Given the description of an element on the screen output the (x, y) to click on. 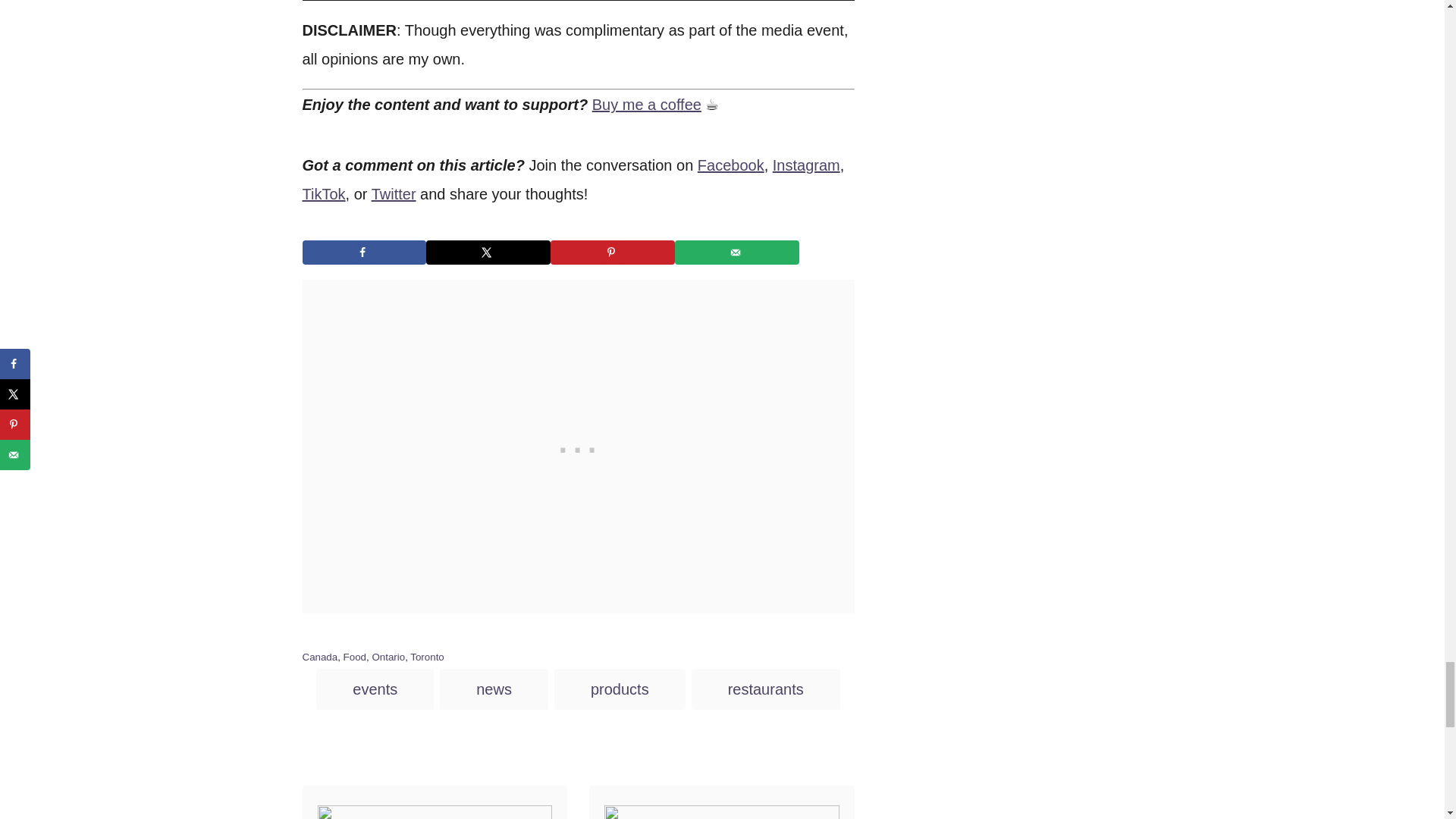
Save to Pinterest (612, 252)
Share on Facebook (363, 252)
Share on X (488, 252)
Send over email (737, 252)
